Given the description of an element on the screen output the (x, y) to click on. 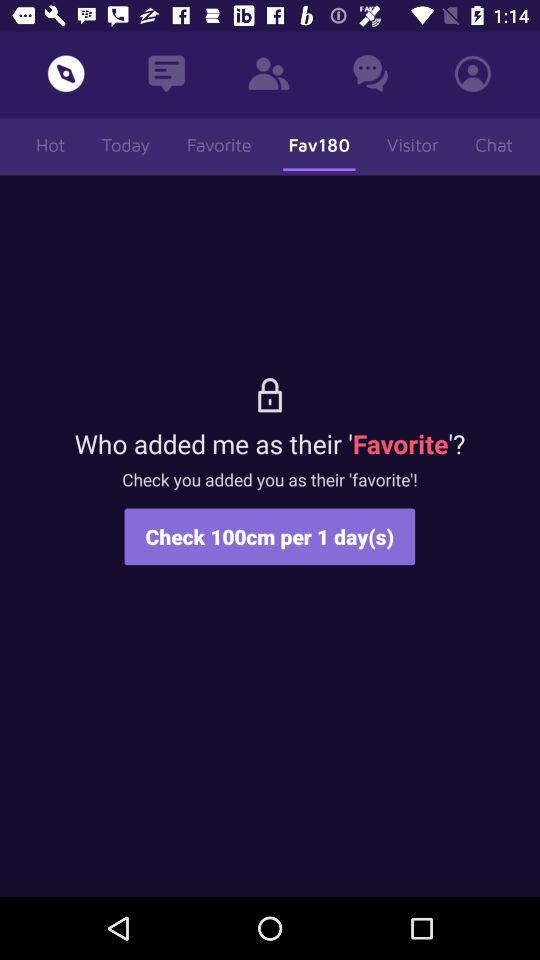
flip to check 100cm per (269, 536)
